Given the description of an element on the screen output the (x, y) to click on. 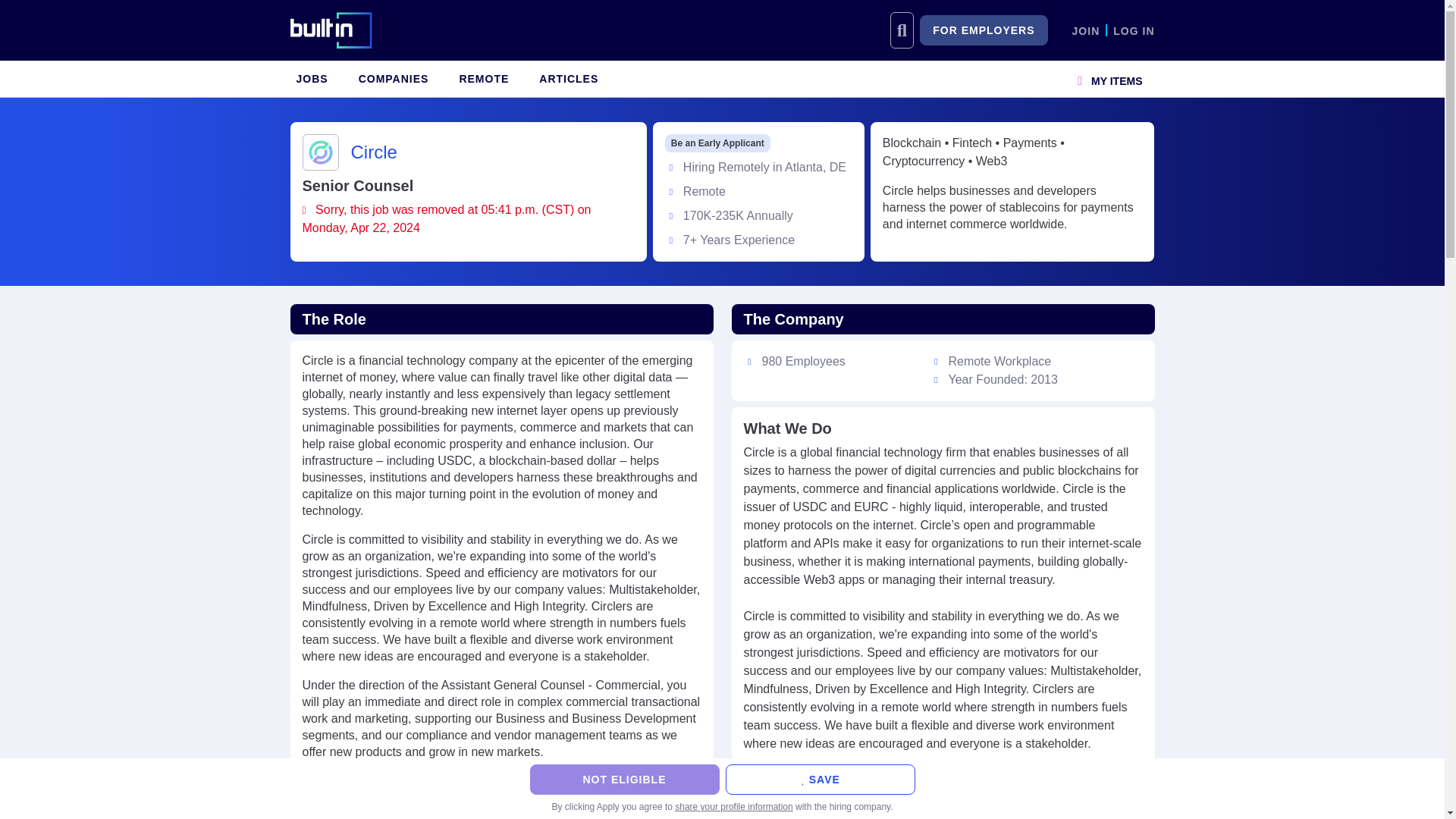
Circle (373, 152)
REMOTE (483, 78)
LOG IN (1133, 30)
ARTICLES (568, 78)
MY ITEMS (1109, 78)
SAVE (819, 779)
JOIN (1085, 30)
COMPANIES (393, 78)
JOBS (311, 78)
FOR EMPLOYERS (983, 30)
